Given the description of an element on the screen output the (x, y) to click on. 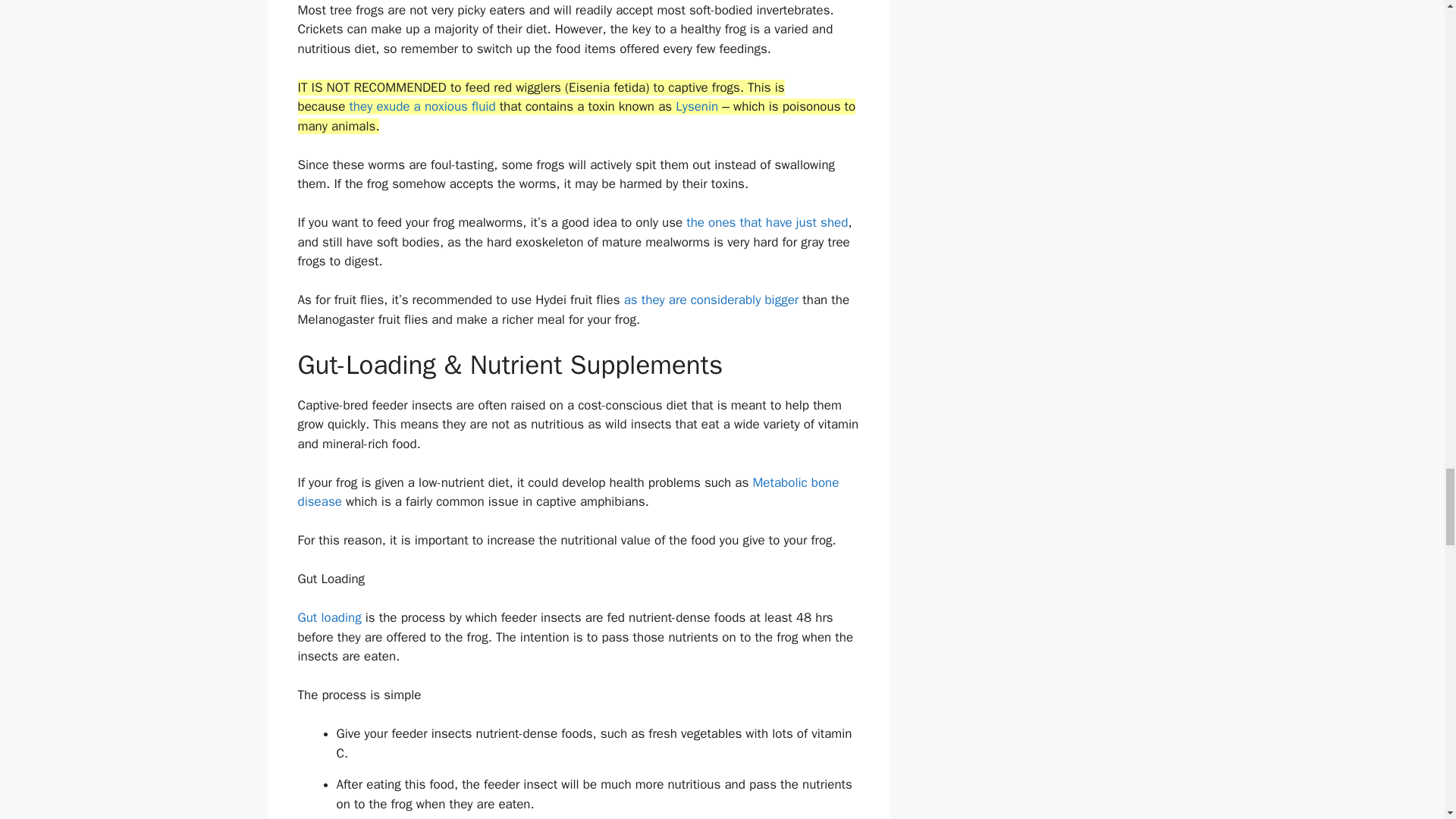
they exude a noxious fluid  (424, 106)
